Given the description of an element on the screen output the (x, y) to click on. 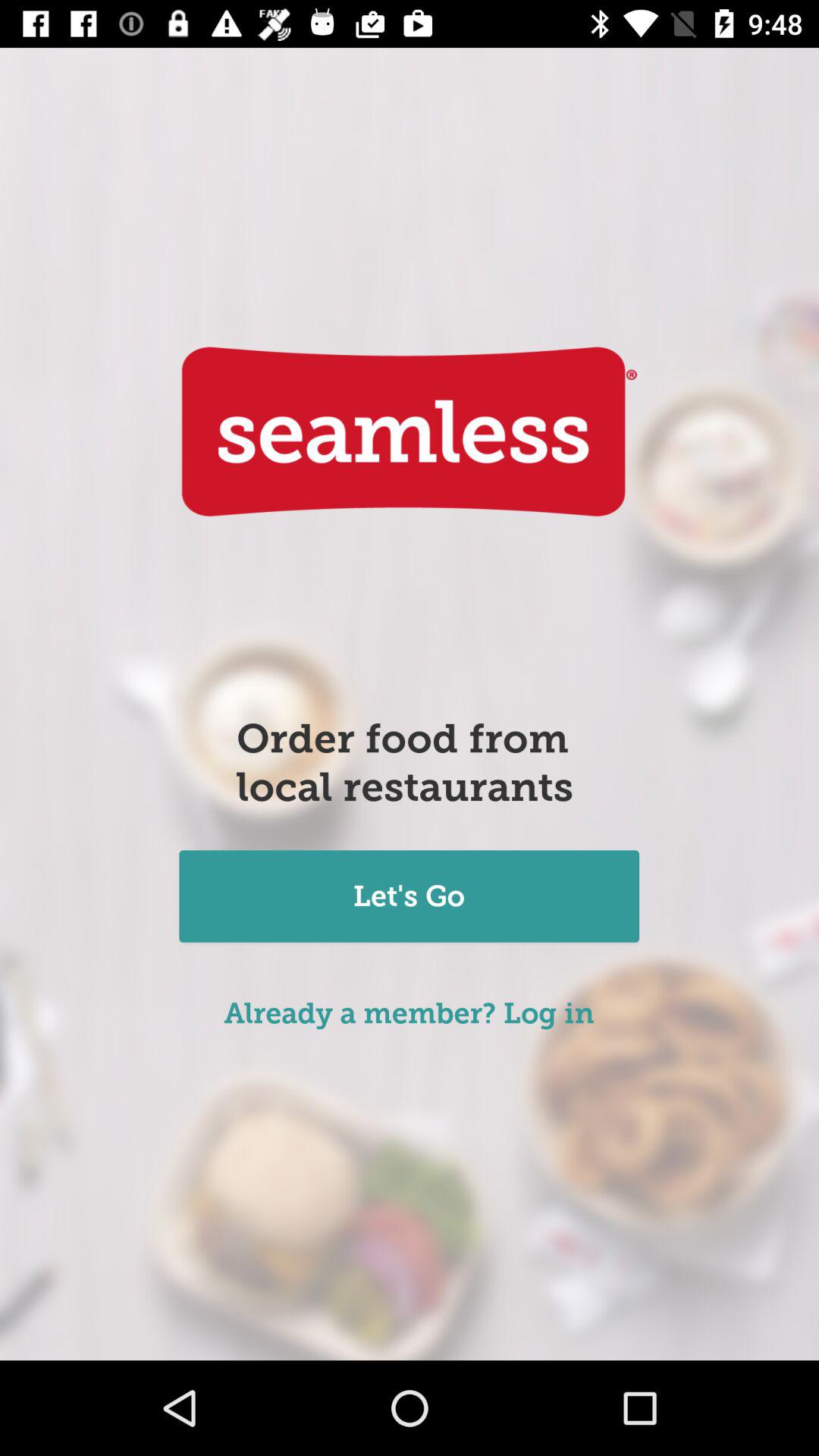
tap the already a member item (409, 1013)
